Given the description of an element on the screen output the (x, y) to click on. 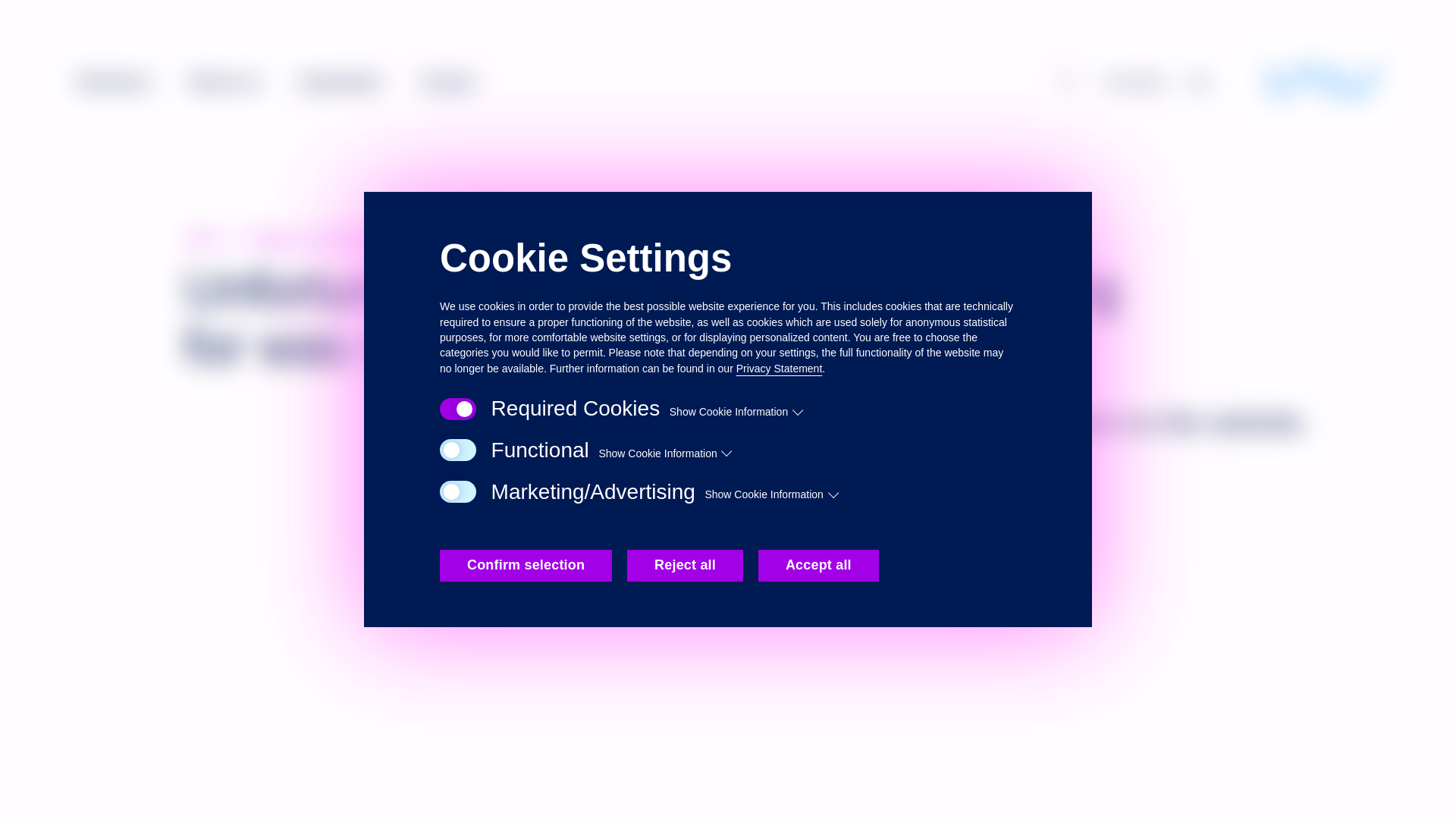
Solutions (113, 81)
Inspiration (339, 81)
Contact (1135, 81)
About us (224, 81)
IAV (1324, 81)
Career (448, 81)
Search (1068, 81)
